Given the description of an element on the screen output the (x, y) to click on. 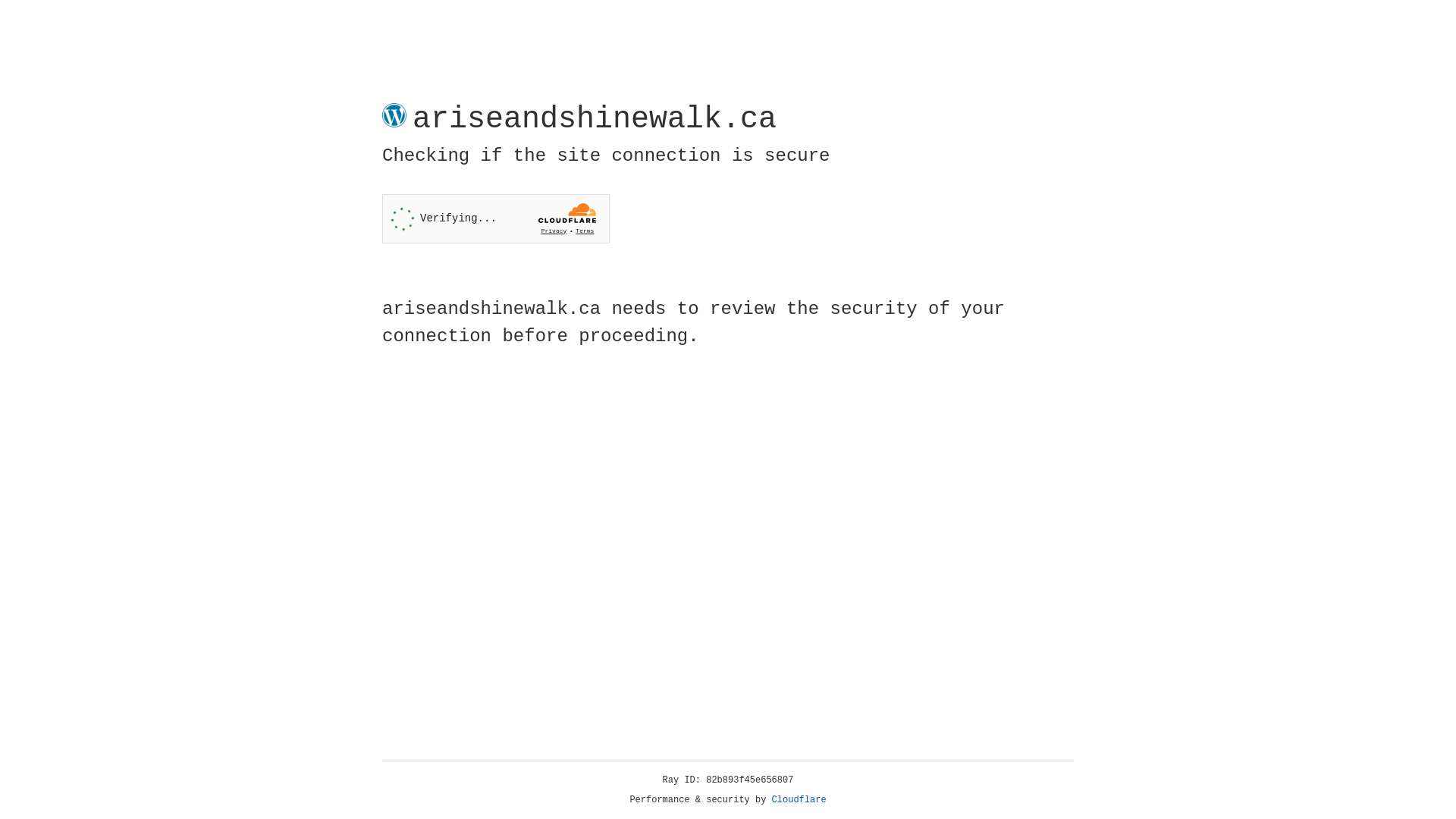
Widget containing a Cloudflare security challenge Element type: hover (495, 218)
Cloudflare Element type: text (798, 799)
